Given the description of an element on the screen output the (x, y) to click on. 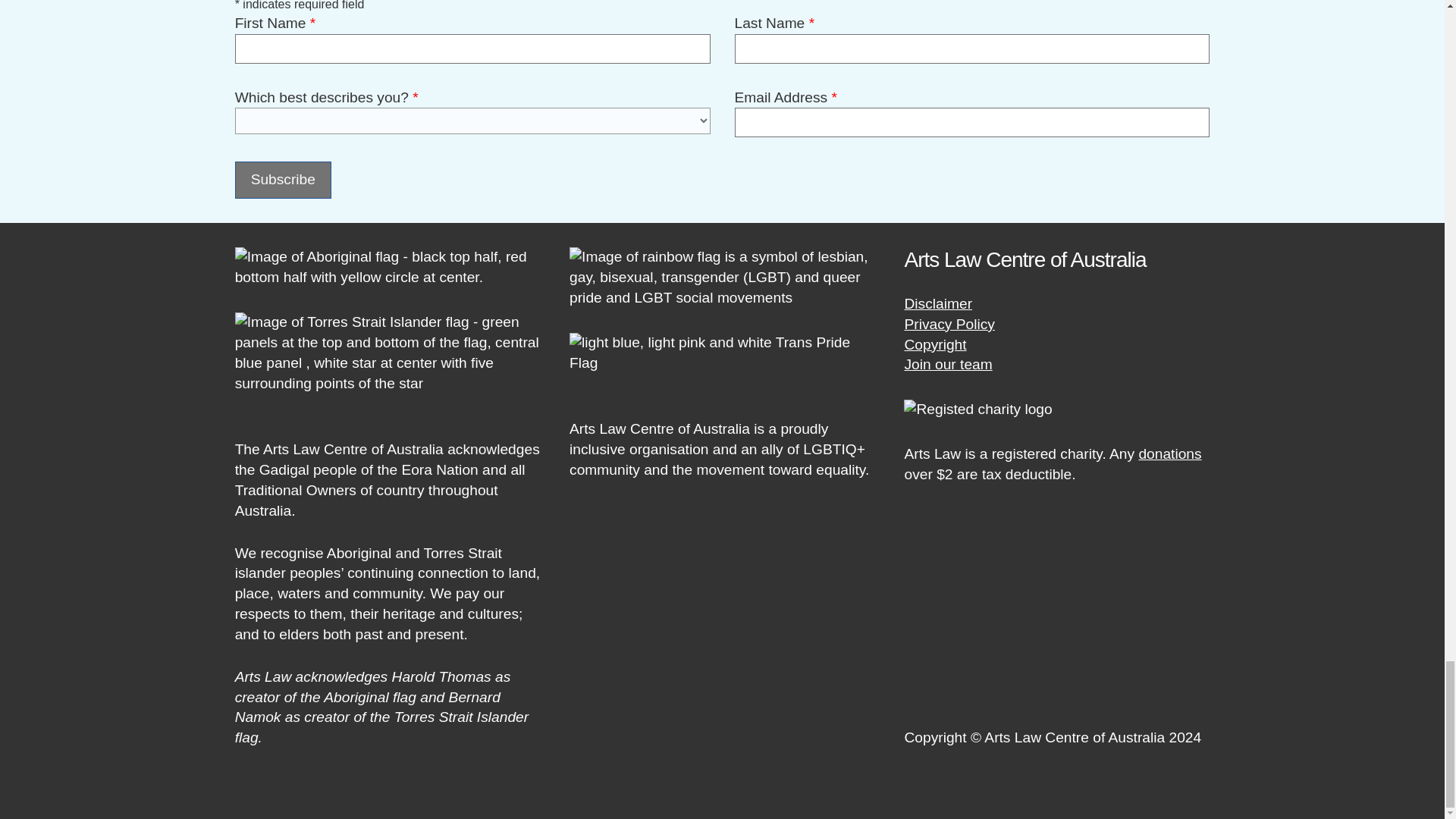
Subscribe (282, 180)
